Given the description of an element on the screen output the (x, y) to click on. 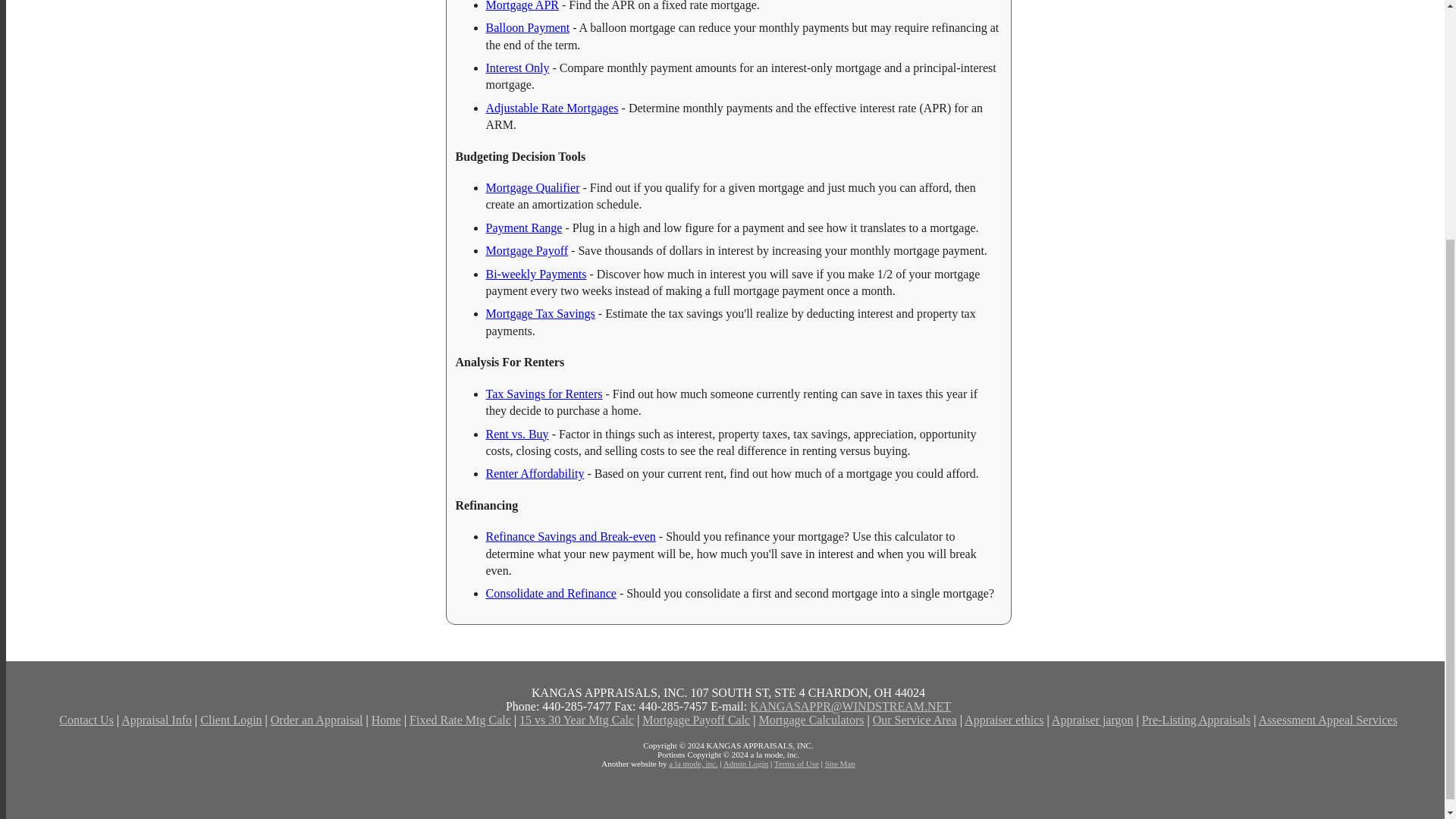
Consolidate and Refinance (549, 593)
Bi-weekly Payments (535, 273)
Mortgage Qualifier (531, 187)
Mortgage Tax Savings (539, 313)
Mortgage APR (520, 5)
Mortgage Payoff (525, 250)
Adjustable Rate Mortgages (550, 107)
Interest Only (516, 67)
Balloon Payment (526, 27)
Refinance Savings and Break-even (569, 535)
Tax Savings for Renters (543, 393)
Renter Affordability (533, 472)
Payment Range (523, 227)
Rent vs. Buy (516, 433)
